Given the description of an element on the screen output the (x, y) to click on. 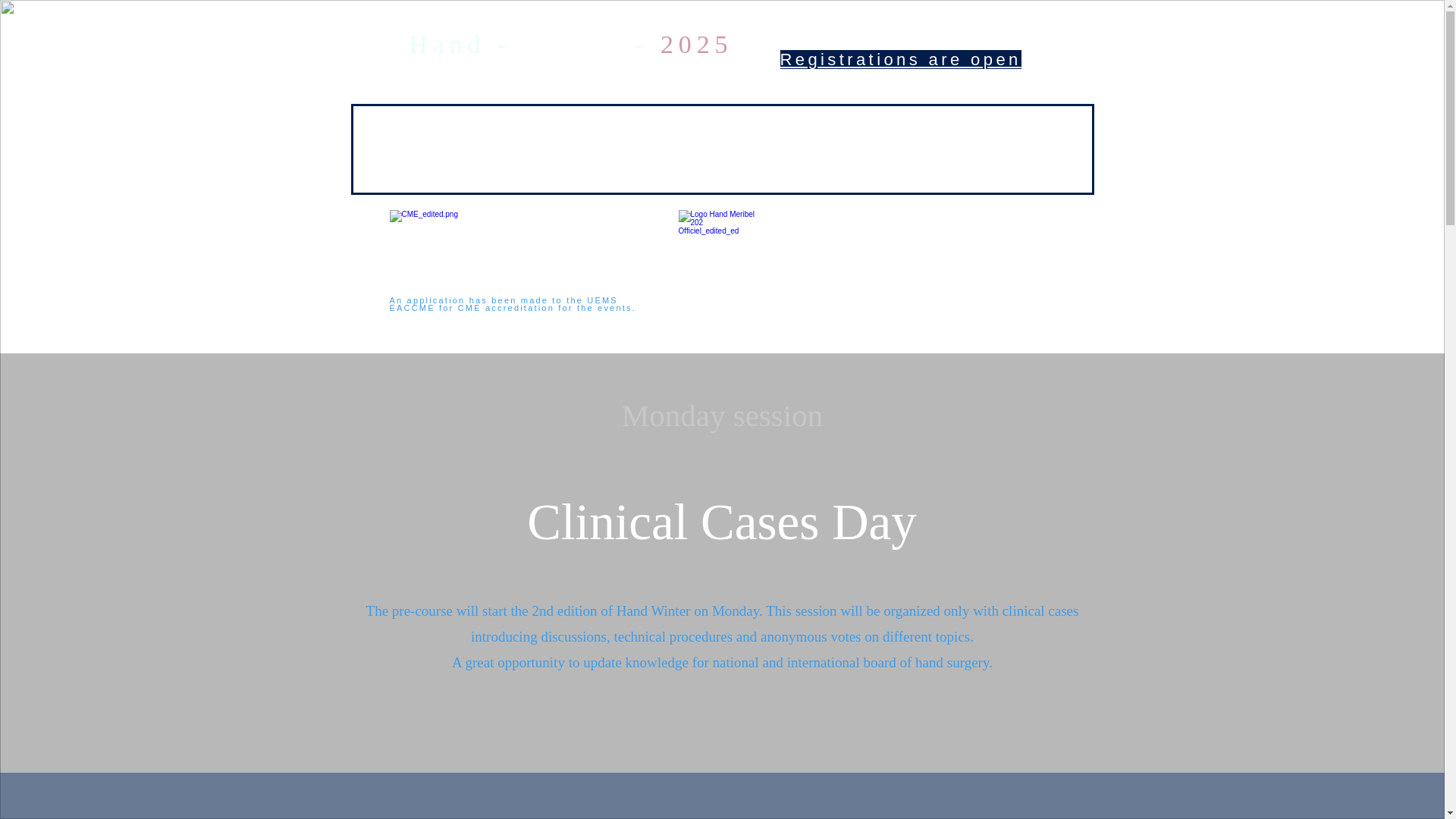
Edition 2024 (840, 140)
Winter (572, 44)
Registrations are open (899, 58)
Registration (951, 140)
- (642, 44)
3th to 7thFebruary 2025 (584, 78)
Program (540, 140)
Hand -  (465, 44)
2025 (696, 44)
